Given the description of an element on the screen output the (x, y) to click on. 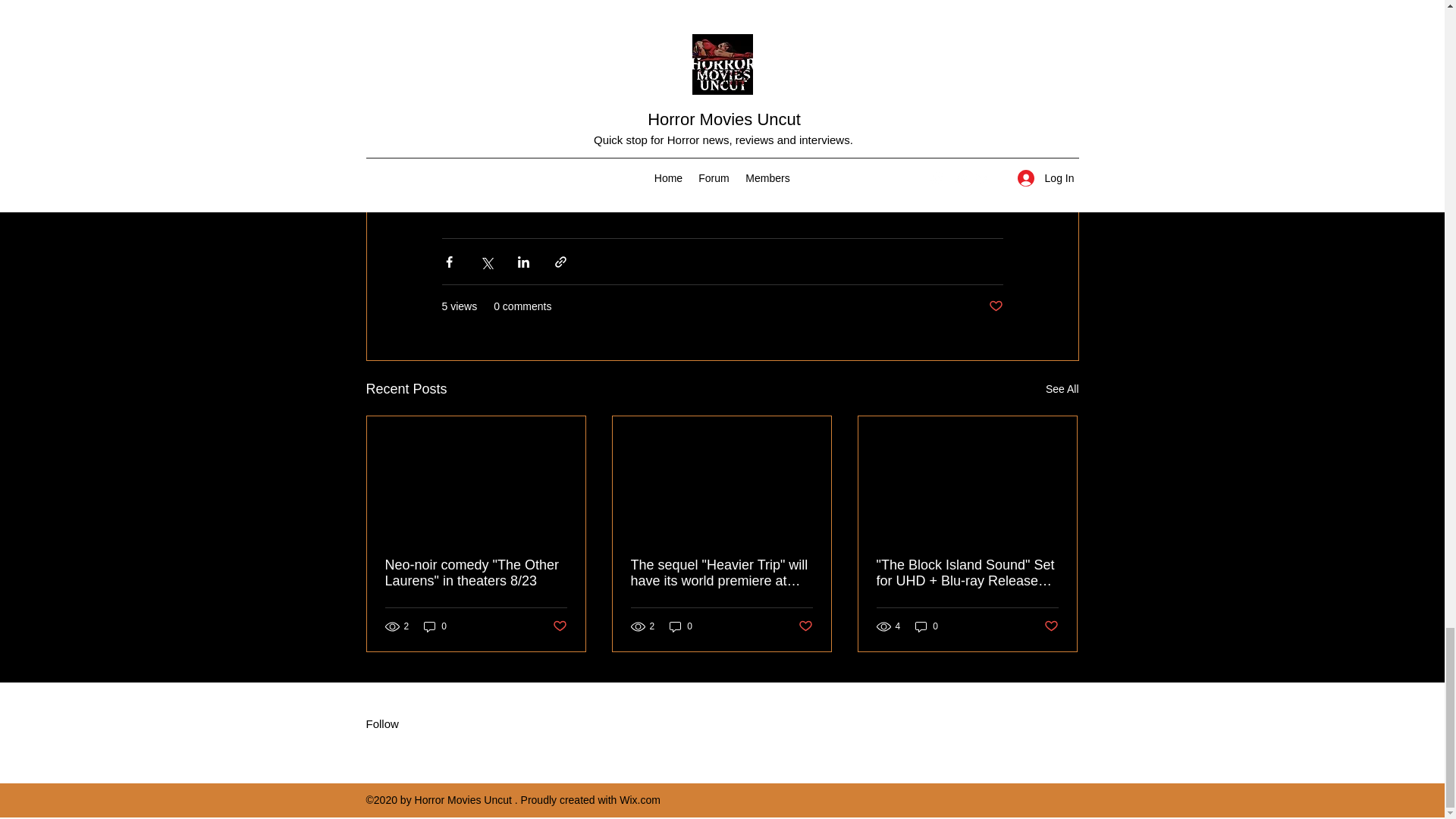
Post not marked as liked (558, 626)
Post not marked as liked (804, 626)
See All (1061, 389)
0 (435, 626)
Post not marked as liked (995, 306)
Post not marked as liked (1050, 626)
0 (681, 626)
0 (926, 626)
